Given the description of an element on the screen output the (x, y) to click on. 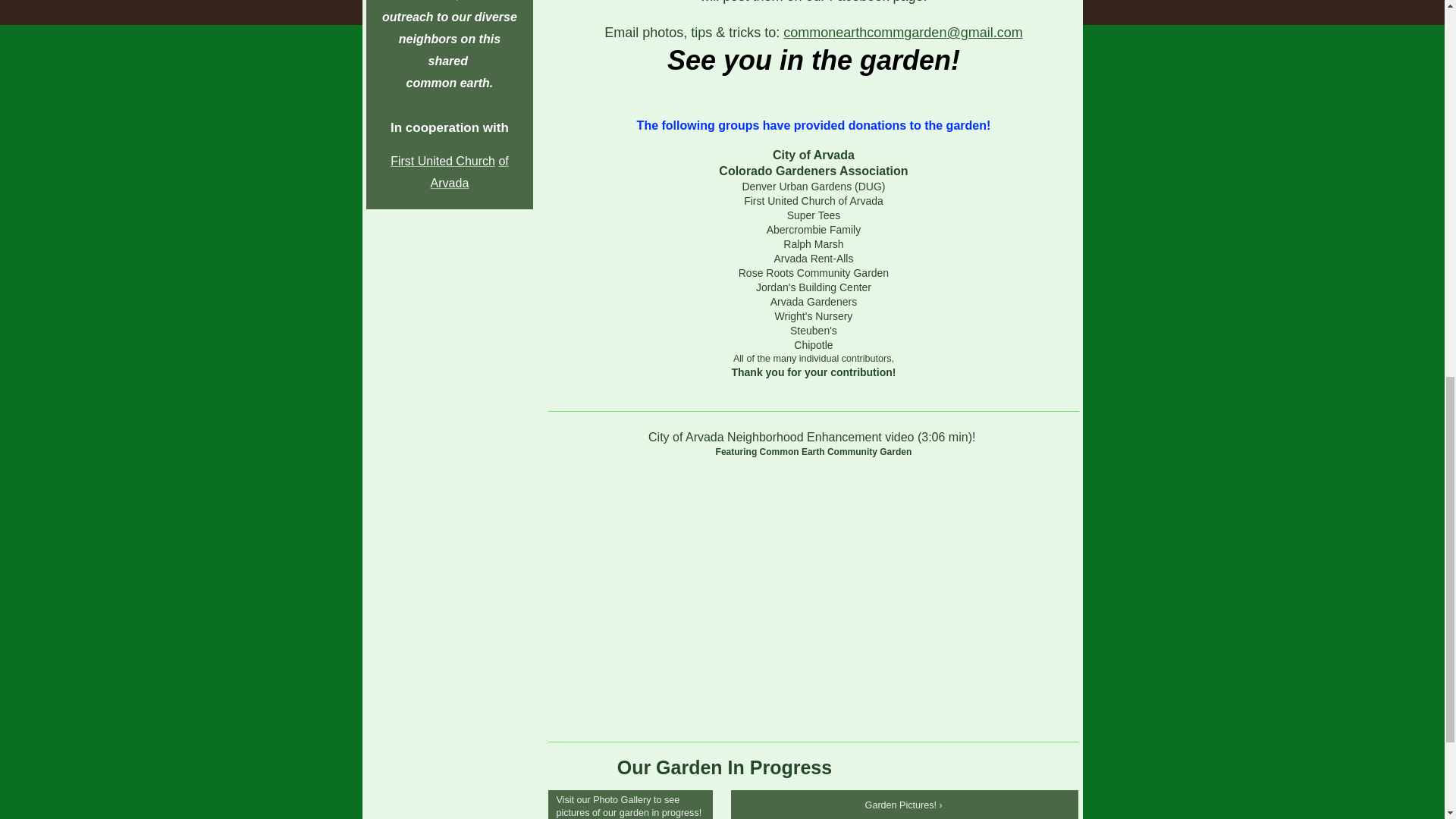
of Arvada (469, 171)
First United Church (442, 160)
Garden Pictures! (904, 805)
